Given the description of an element on the screen output the (x, y) to click on. 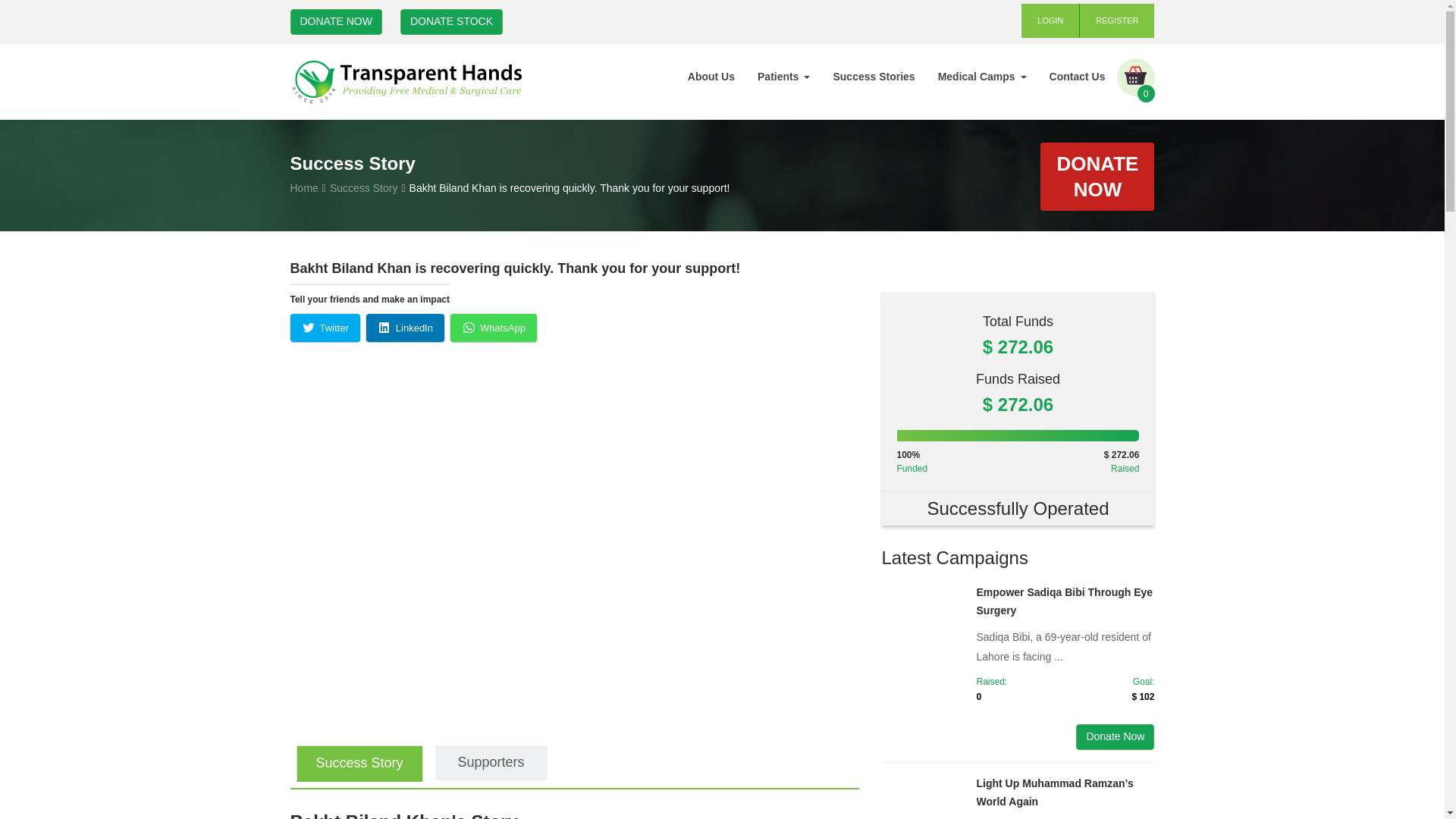
About Us (711, 76)
Supporters (491, 762)
Success Story (363, 187)
Home (303, 187)
Success Story (358, 763)
Donate Now (1114, 736)
REGISTER (1117, 20)
Click to share on WhatsApp (493, 327)
Empower Sadiqa Bibi Through Eye Surgery (1064, 601)
DONATE NOW (335, 22)
